Given the description of an element on the screen output the (x, y) to click on. 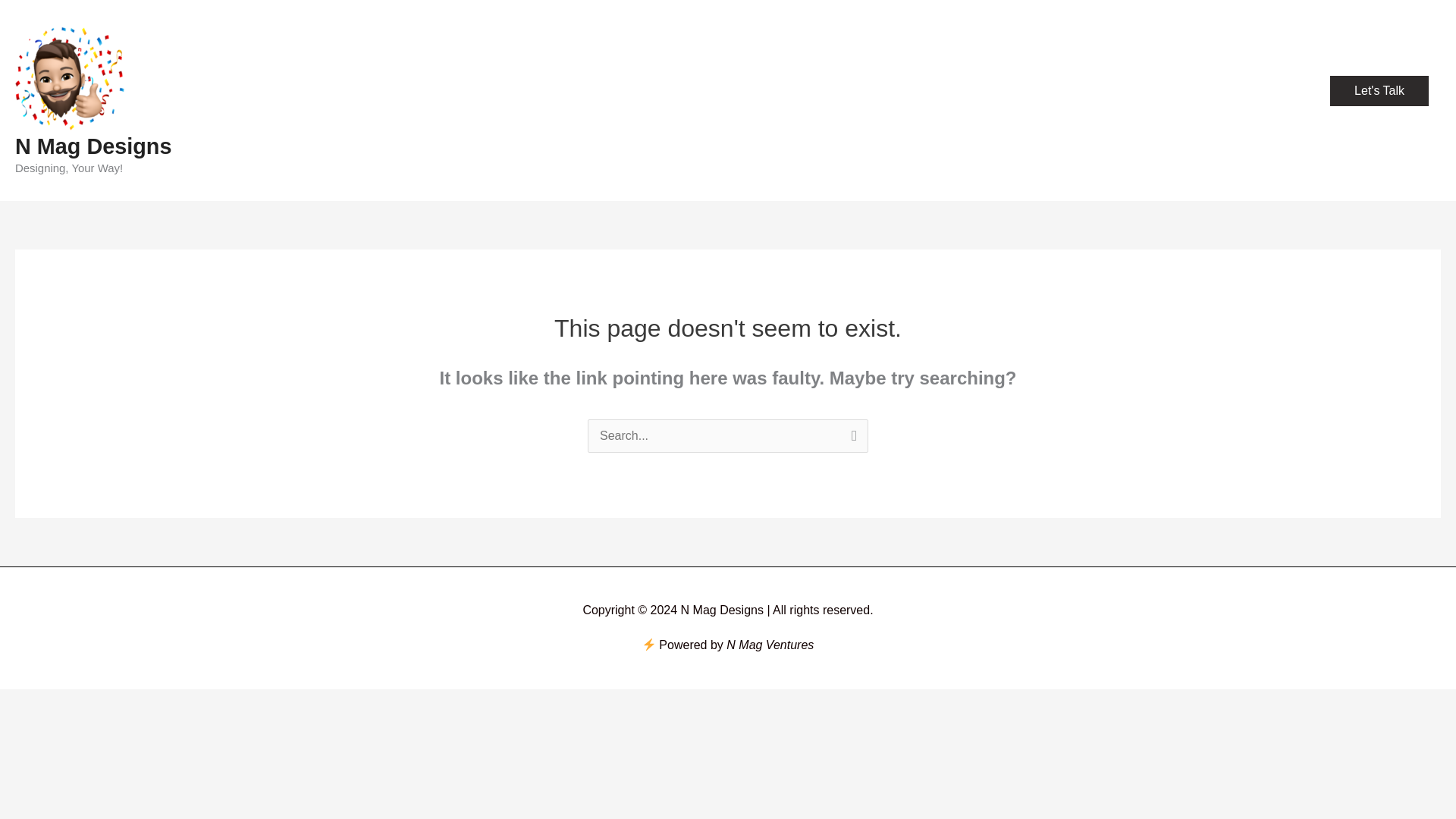
N Mag Designs (92, 146)
Let'S Talk (1379, 91)
